Given the description of an element on the screen output the (x, y) to click on. 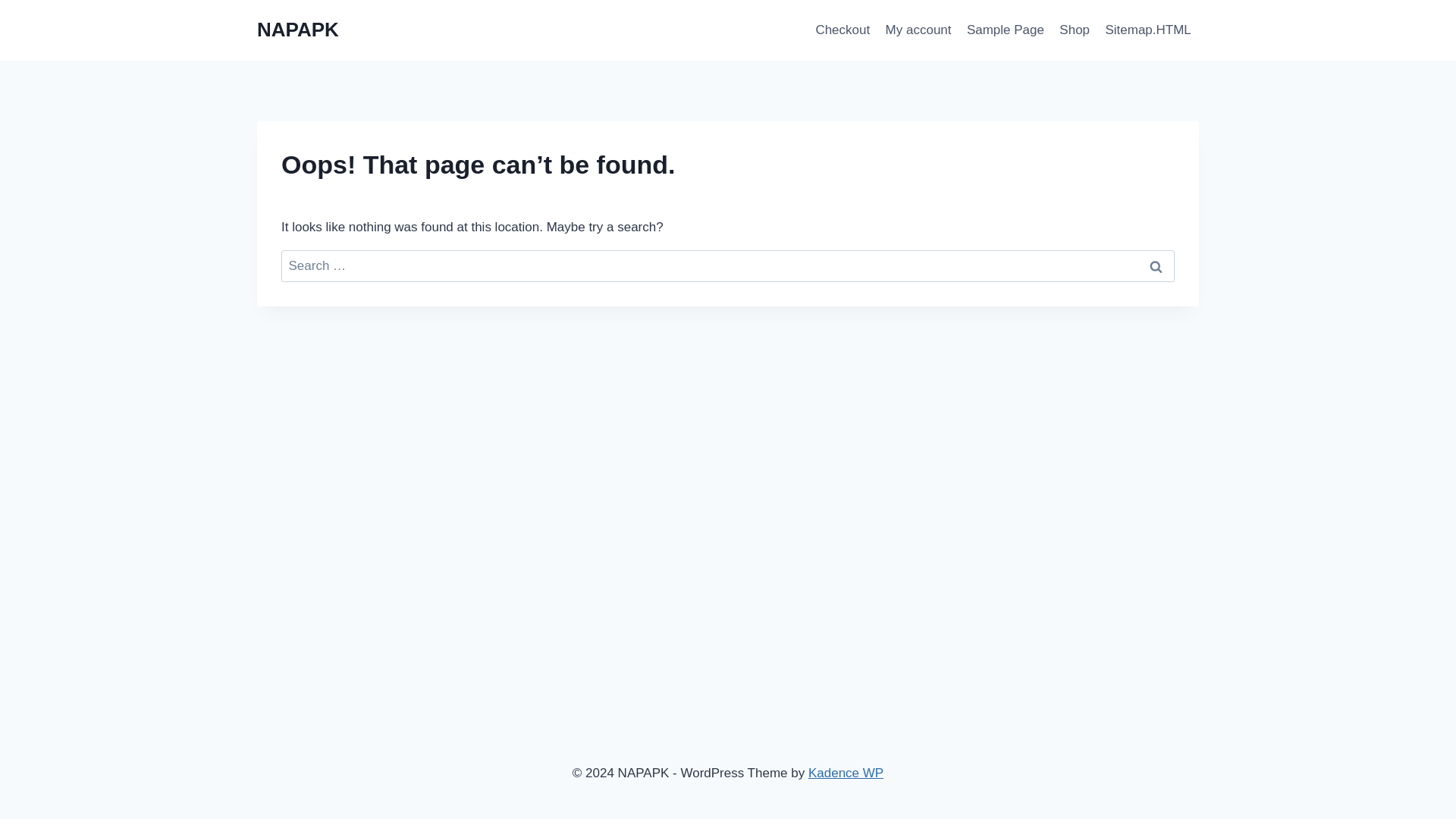
Search (1155, 266)
Search (1155, 266)
Search (1155, 266)
Sample Page (1005, 30)
Checkout (842, 30)
Kadence WP (845, 772)
Sitemap.HTML (1147, 30)
Shop (1074, 30)
My account (917, 30)
NAPAPK (298, 29)
